Given the description of an element on the screen output the (x, y) to click on. 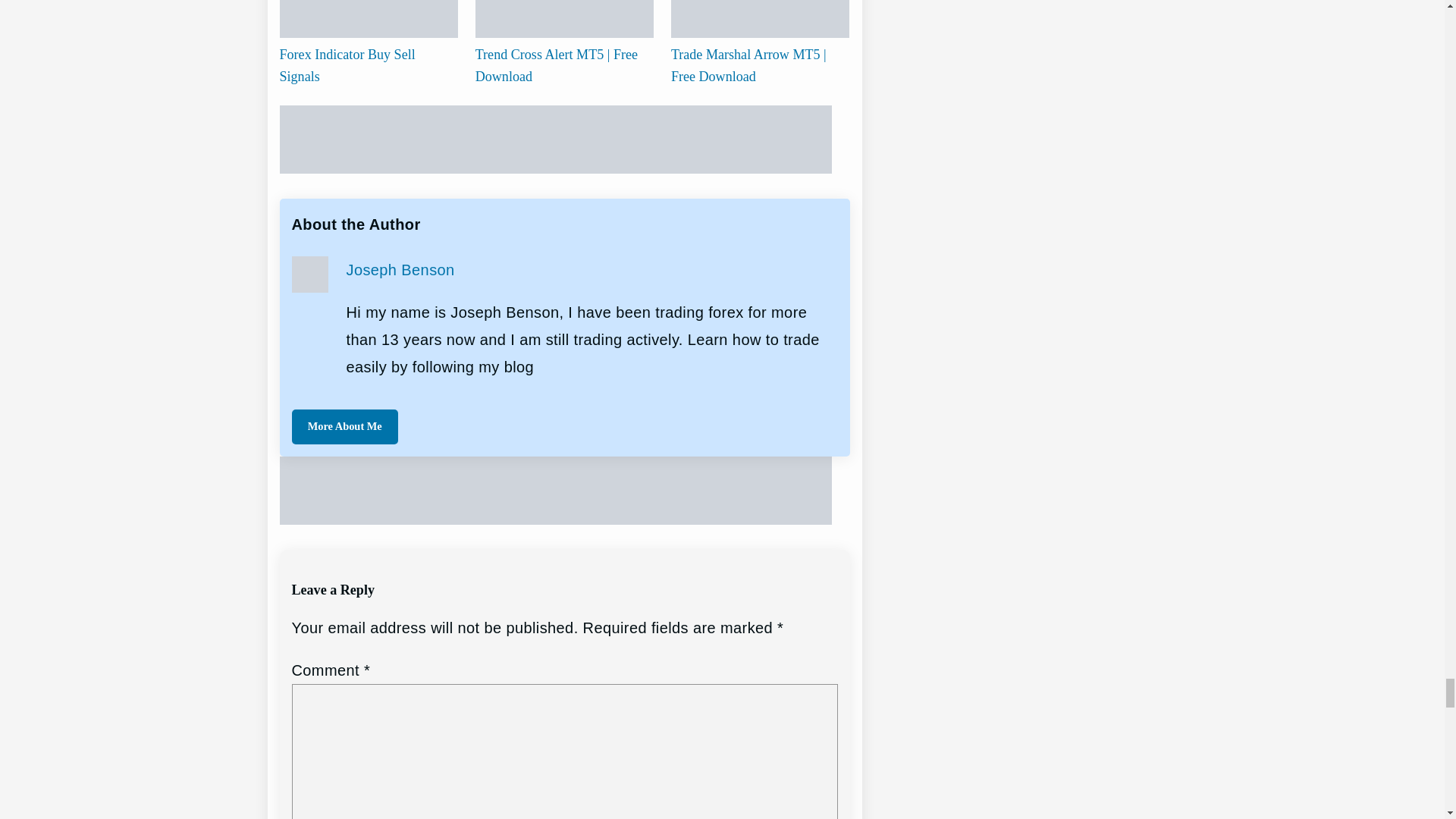
Joseph Benson (400, 269)
More About Me (344, 426)
Forex Indicator Buy Sell Signals (346, 65)
